Given the description of an element on the screen output the (x, y) to click on. 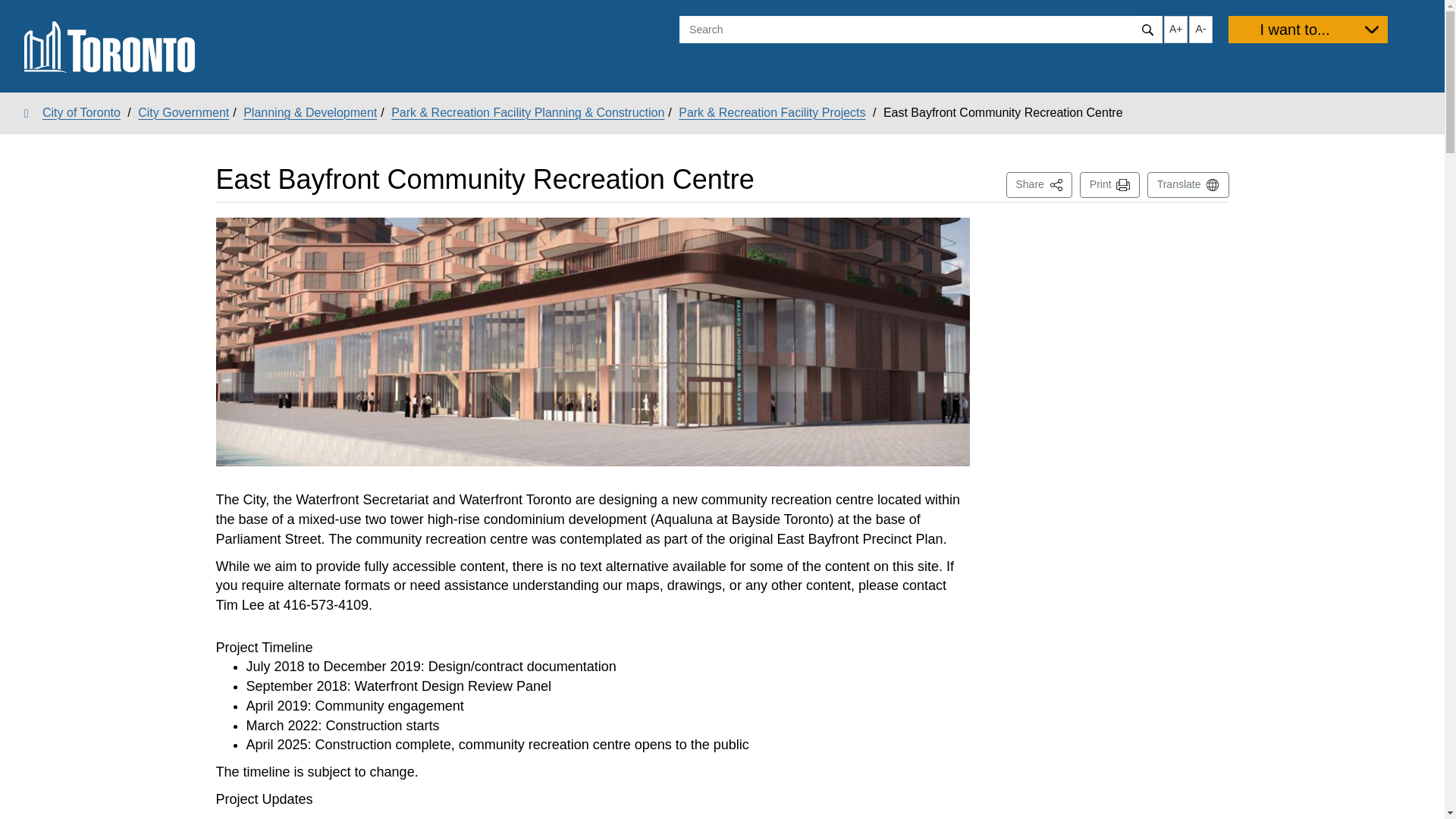
Skip to content (1038, 184)
Increase text size (11, 11)
City Government (1175, 29)
Translate (183, 112)
Print (1187, 184)
I want to... (1110, 184)
City of Toronto (1307, 29)
